Given the description of an element on the screen output the (x, y) to click on. 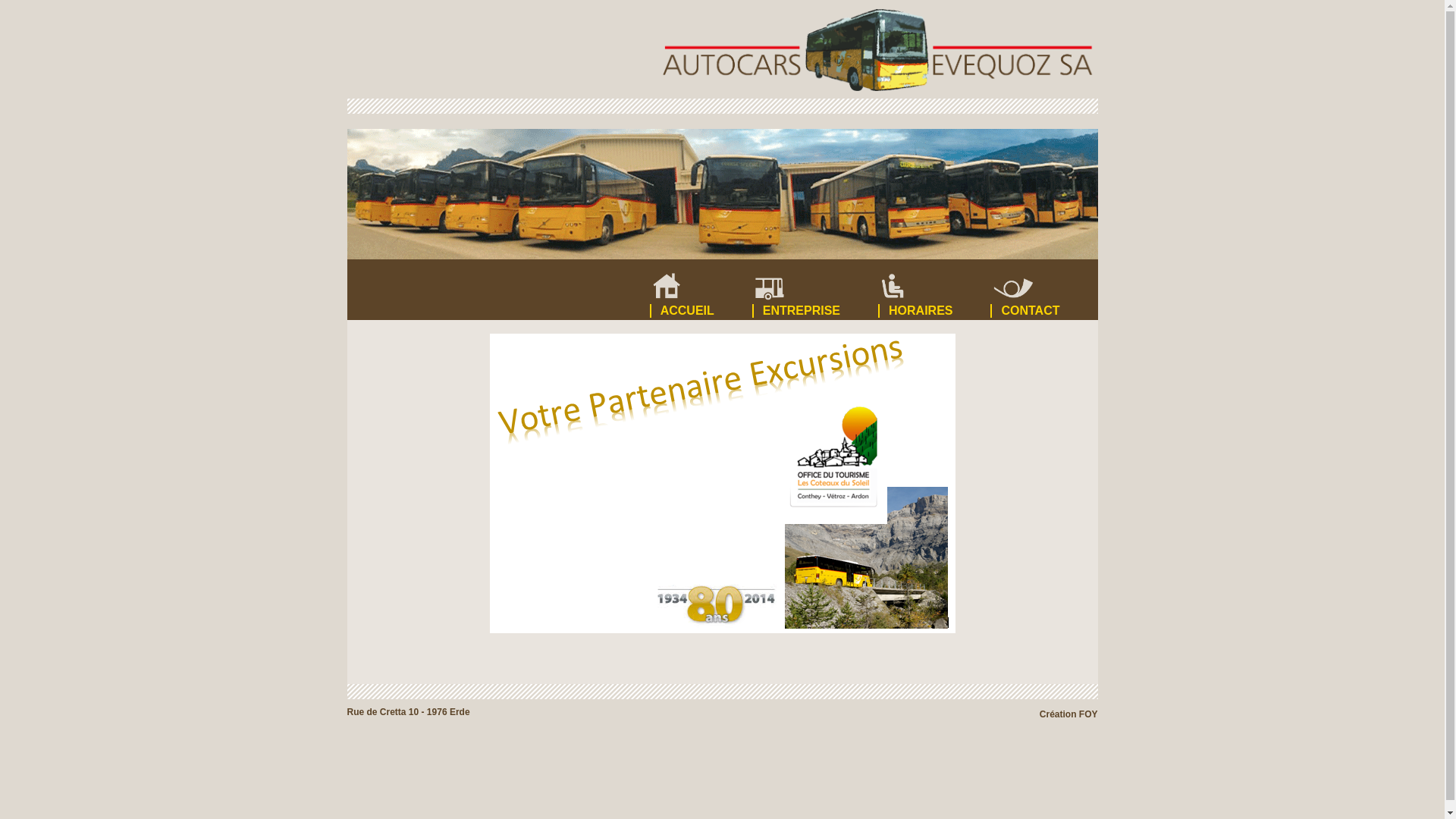
CONTACT Element type: text (1043, 288)
HORAIRES Element type: text (934, 288)
ENTREPRISE Element type: text (815, 288)
ACCUEIL Element type: text (700, 288)
